Given the description of an element on the screen output the (x, y) to click on. 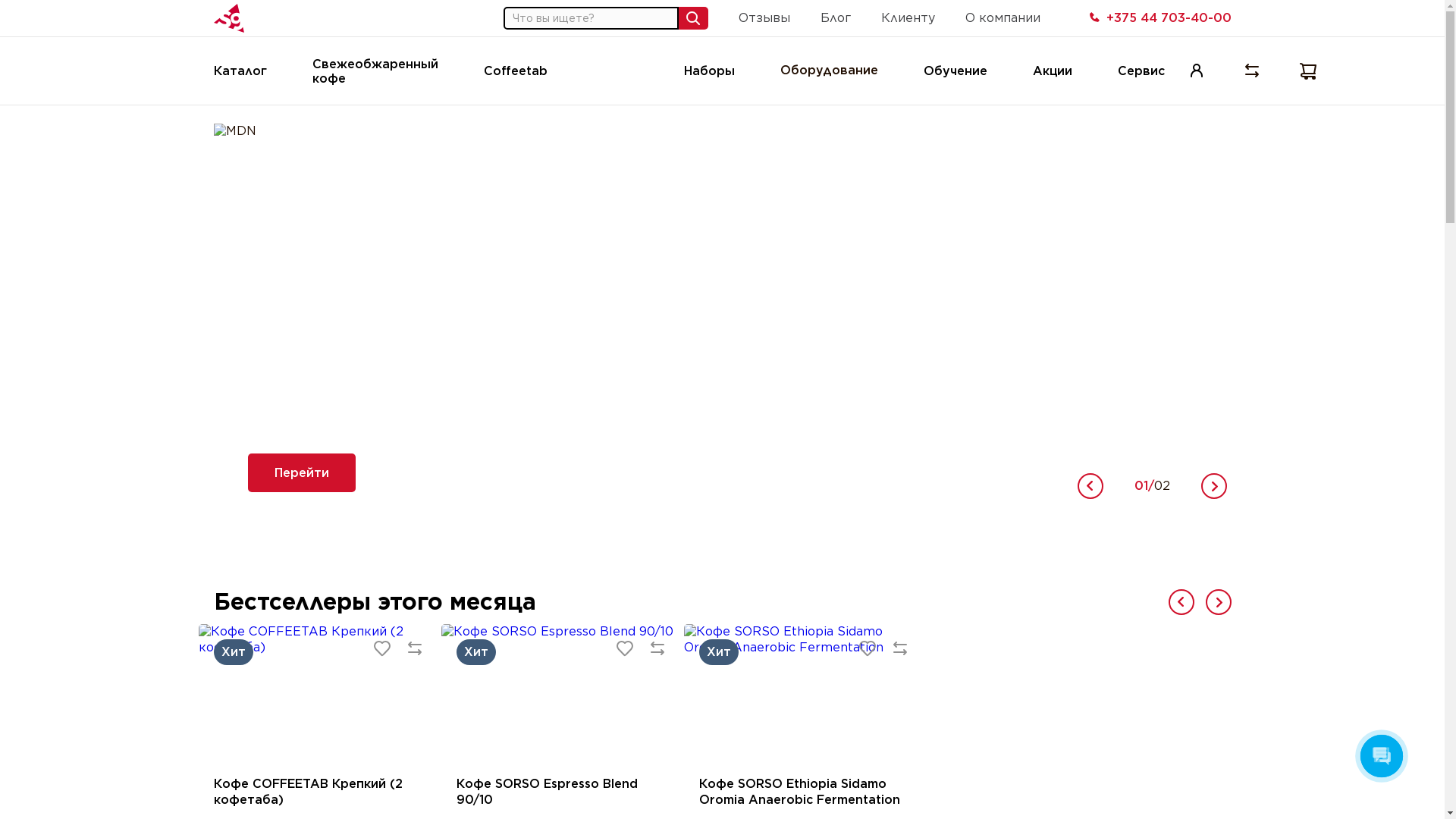
+375 44 703-40-00 Element type: text (1158, 17)
Coffeetab Element type: text (515, 70)
